Given the description of an element on the screen output the (x, y) to click on. 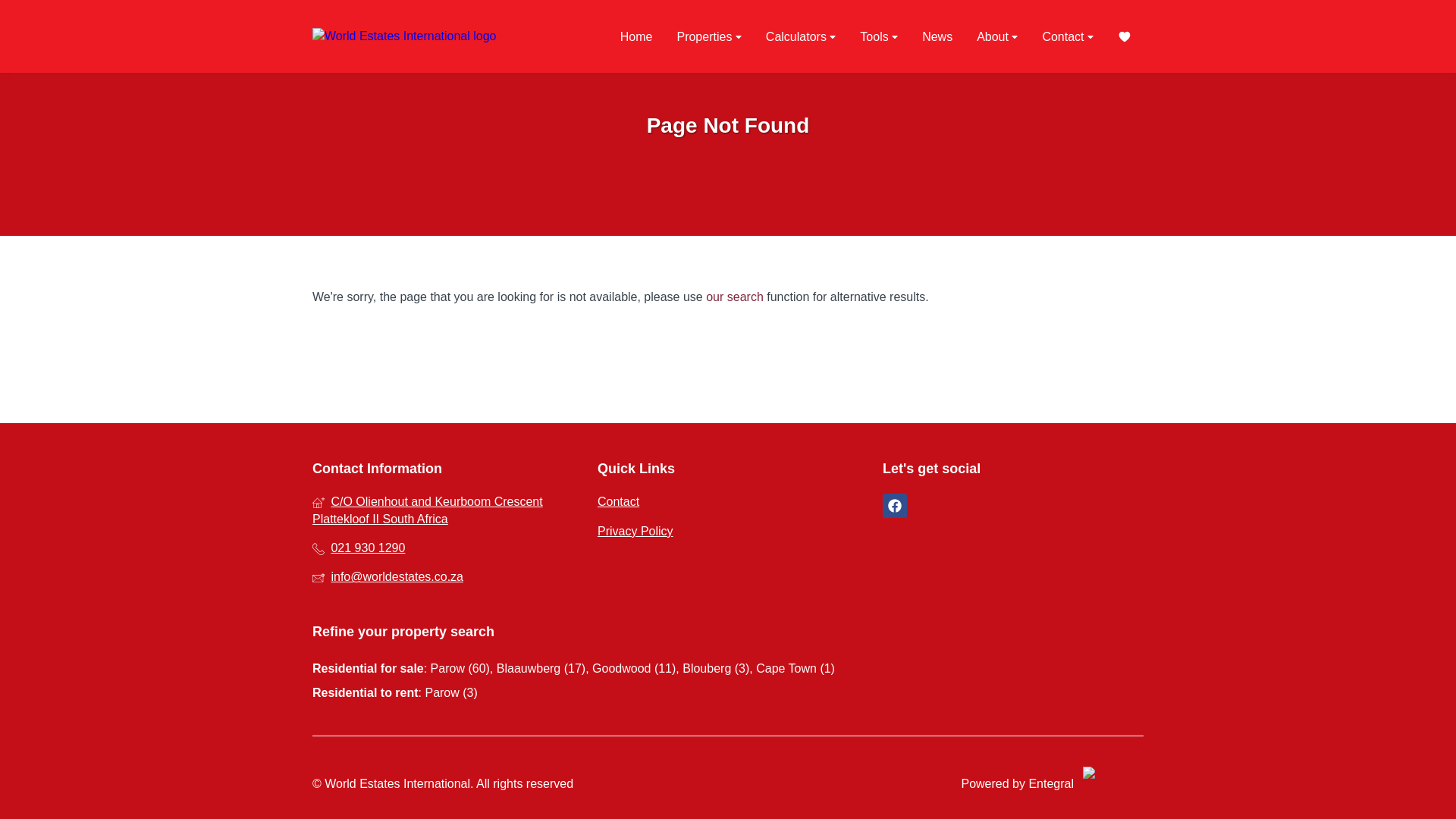
News (936, 36)
Contact (727, 501)
our search (734, 297)
Privacy Policy (727, 531)
Home (636, 36)
Favourites (1123, 36)
Western Cape properties for sale (437, 35)
Favourites (1123, 36)
World Estates International facebook page (894, 505)
021 930 1290 (443, 547)
